Given the description of an element on the screen output the (x, y) to click on. 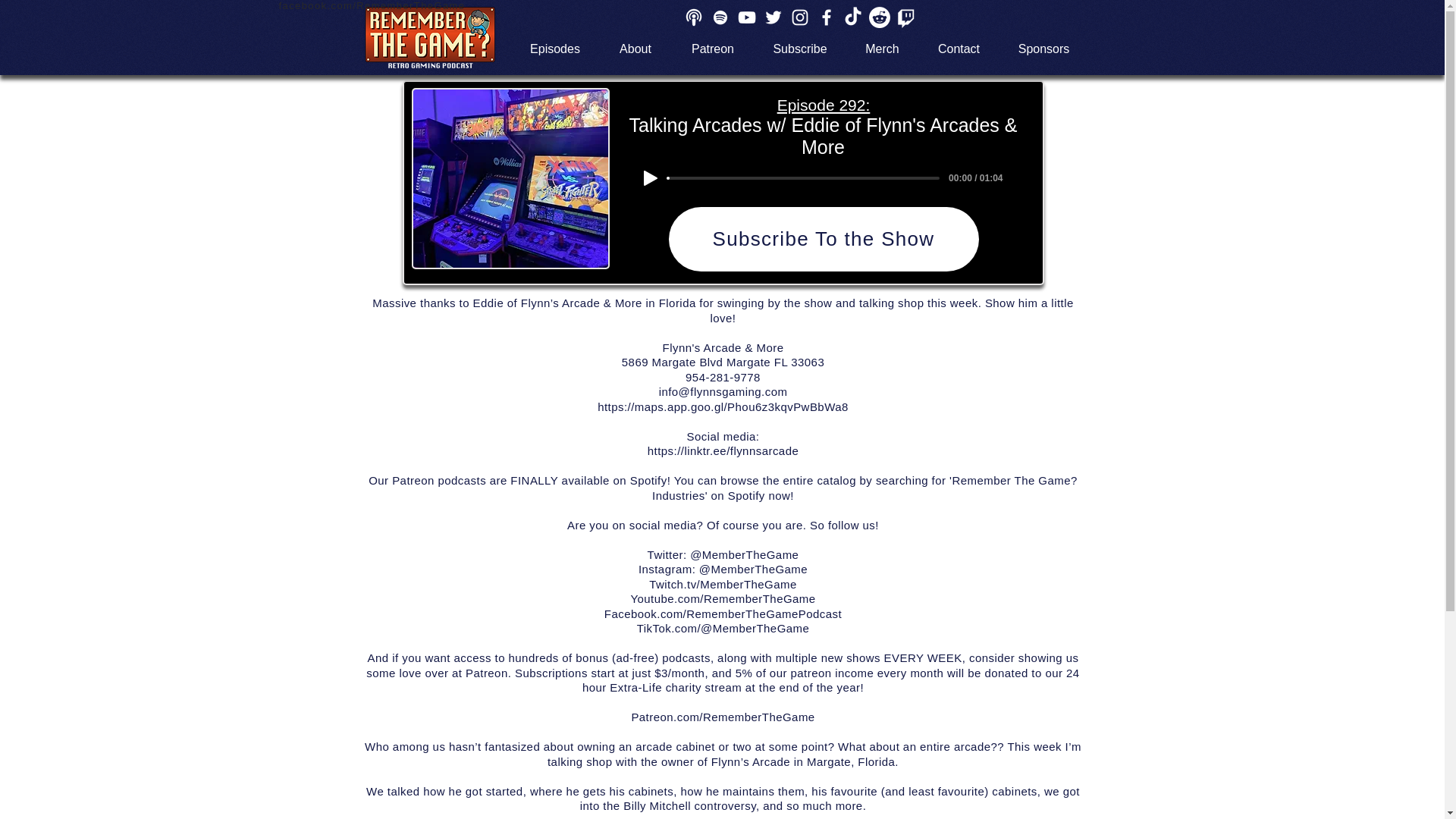
Subscribe To the Show (823, 239)
Episodes (555, 49)
Patreon (712, 49)
Merch (881, 49)
0 (802, 177)
About (634, 49)
Subscribe (799, 49)
Contact (958, 49)
Sponsors (1043, 49)
